Given the description of an element on the screen output the (x, y) to click on. 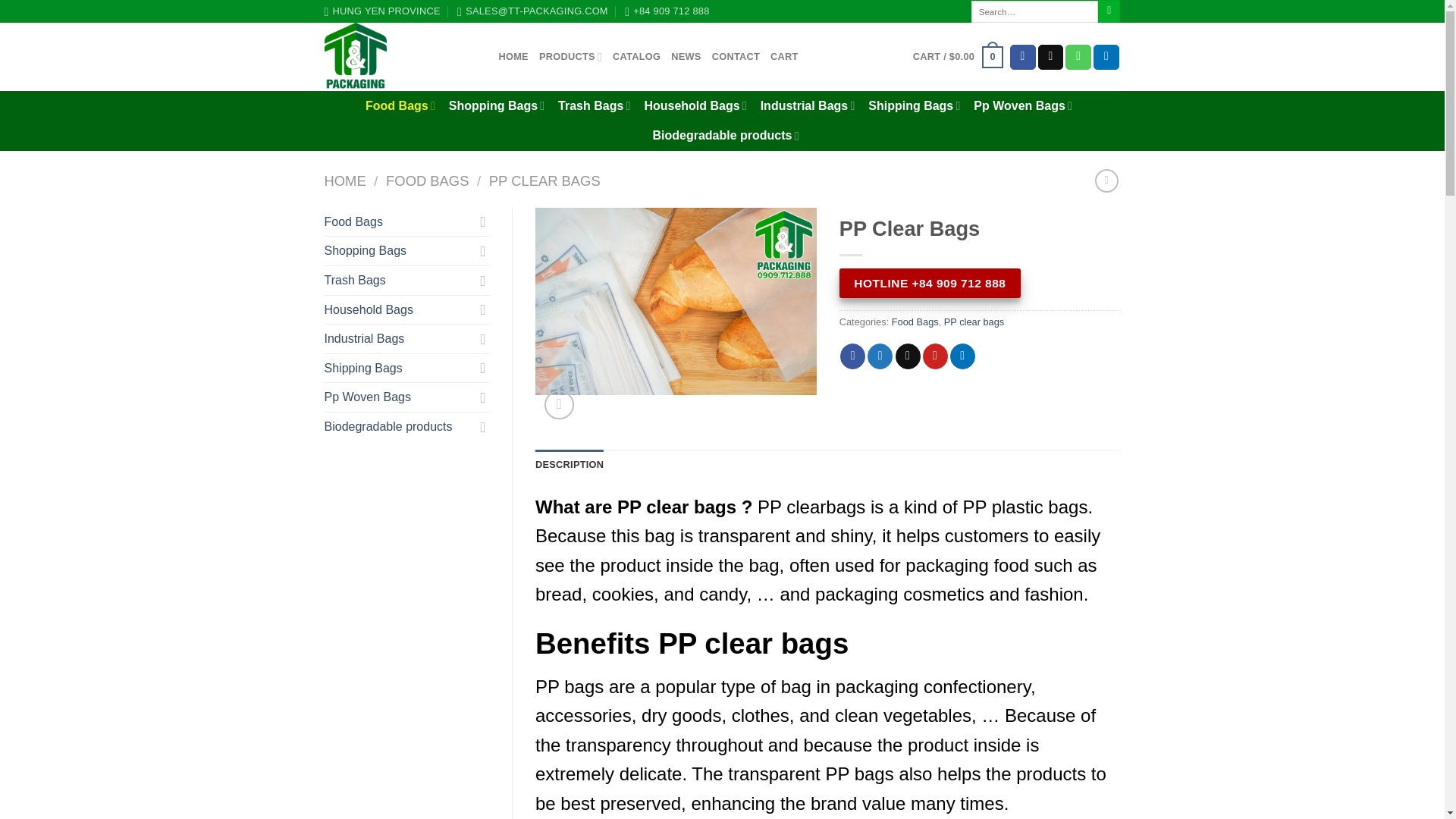
Cart (957, 57)
Search (1108, 11)
Call us (1077, 57)
Send us an email (1051, 57)
PRODUCTS (570, 56)
CONTACT (735, 56)
Follow on Facebook (1022, 57)
CATALOG (636, 56)
NEWS (685, 56)
CART (783, 56)
